Given the description of an element on the screen output the (x, y) to click on. 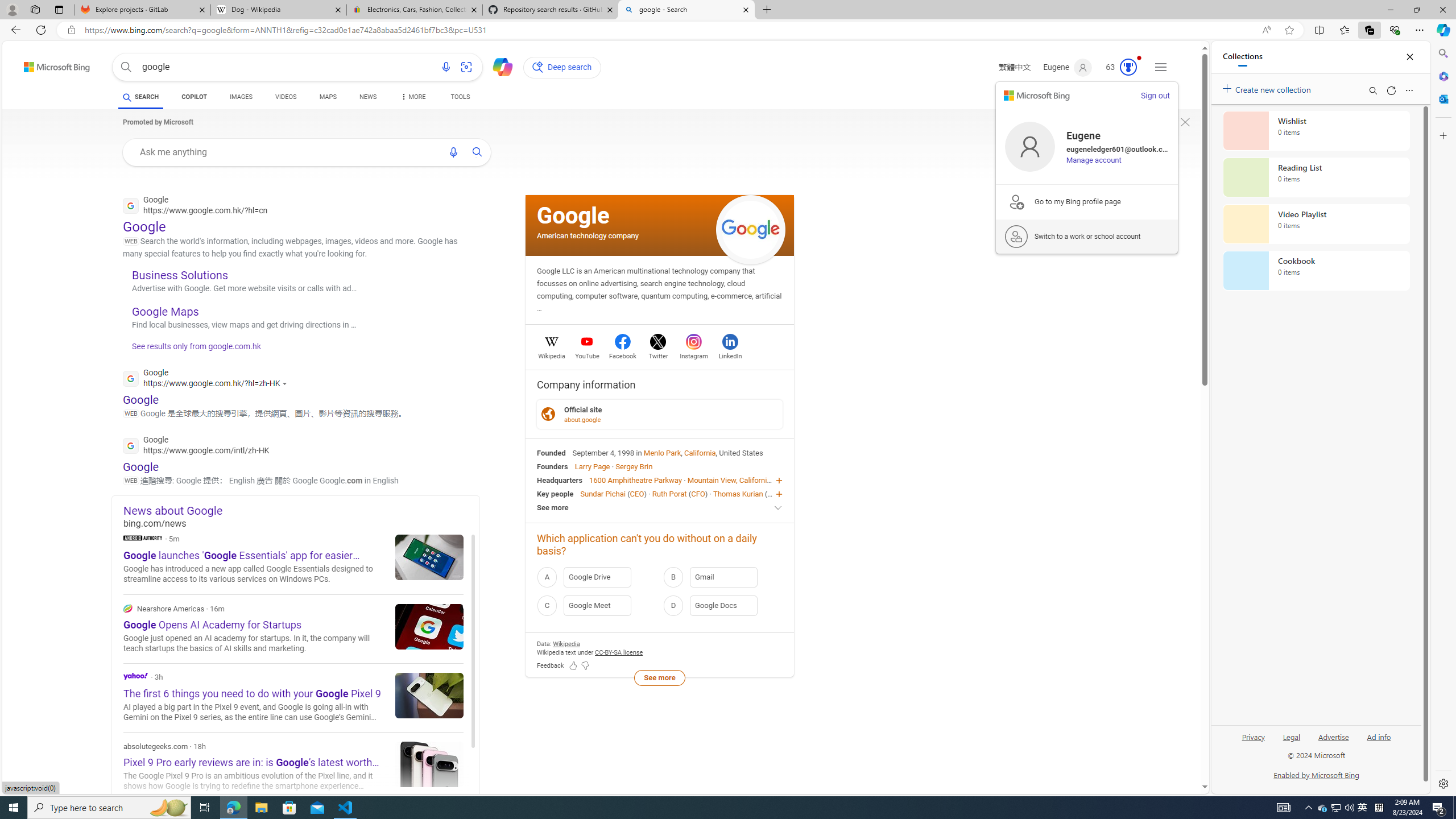
Thomas Kurian (736, 492)
Mountain View, California (729, 479)
Reading List collection, 0 items (1316, 177)
work signin (1015, 236)
Switch to a work or school account (1086, 235)
Key people (555, 492)
Twitter (658, 354)
